Given the description of an element on the screen output the (x, y) to click on. 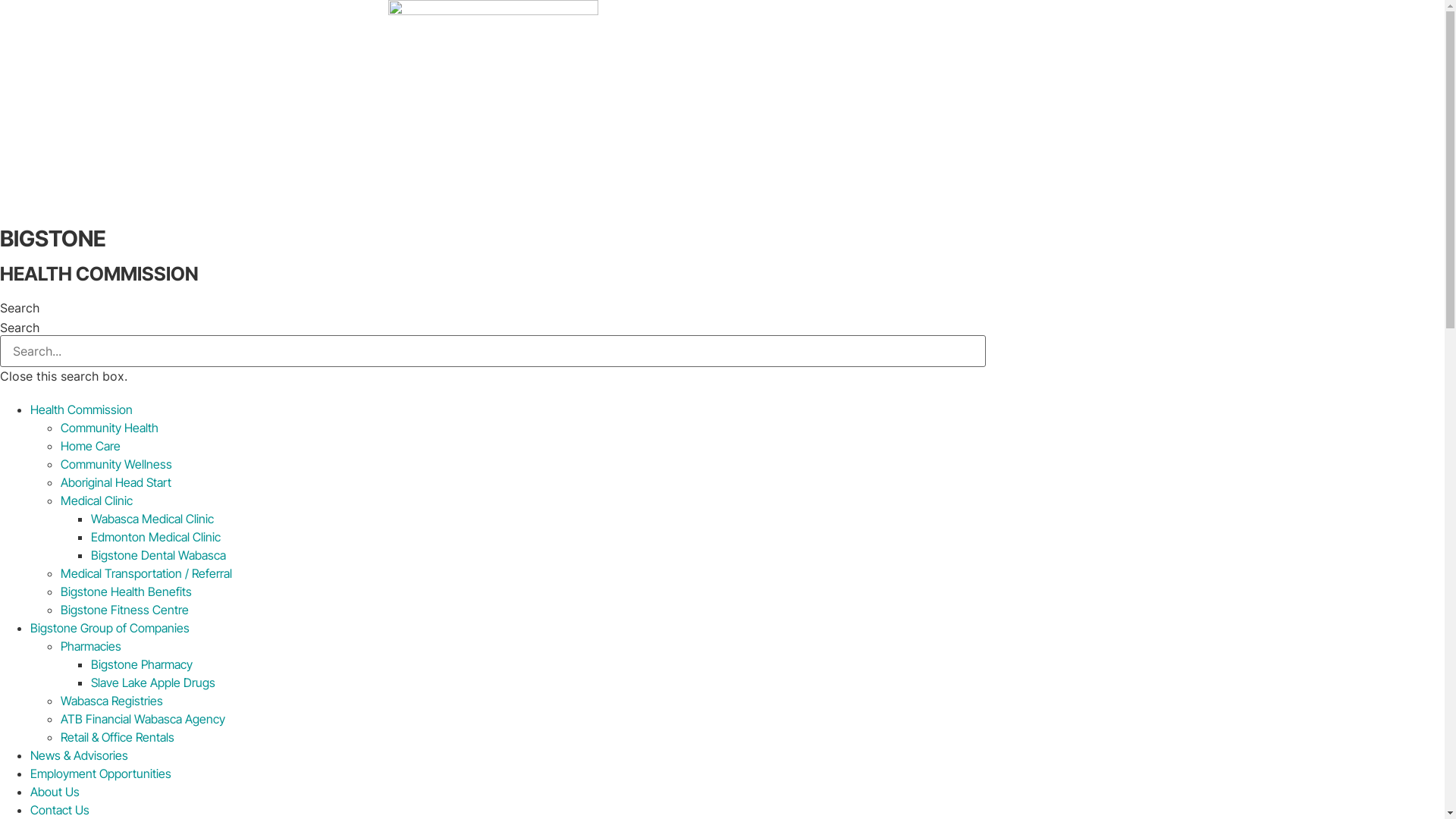
Contact Us Element type: text (59, 809)
Slave Lake Apple Drugs Element type: text (153, 682)
BIGSTONE Element type: text (53, 238)
Aboriginal Head Start Element type: text (115, 481)
Wabasca Medical Clinic Element type: text (152, 518)
Community Health Element type: text (109, 427)
Wabasca Registries Element type: text (111, 700)
Health Commission Element type: text (81, 409)
Medical Transportation / Referral Element type: text (146, 572)
Employment Opportunities Element type: text (100, 773)
Bigstone Group of Companies Element type: text (109, 627)
HEALTH COMMISSION Element type: text (99, 273)
Pharmacies Element type: text (90, 645)
ATB Financial Wabasca Agency Element type: text (142, 718)
Retail & Office Rentals Element type: text (117, 736)
Bigstone Pharmacy Element type: text (141, 663)
Bigstone Dental Wabasca Element type: text (158, 554)
About Us Element type: text (54, 791)
Edmonton Medical Clinic Element type: text (155, 536)
Medical Clinic Element type: text (96, 500)
News & Advisories Element type: text (79, 754)
Home Care Element type: text (90, 445)
Bigstone Health Benefits Element type: text (125, 591)
Community Wellness Element type: text (116, 463)
Bigstone Fitness Centre Element type: text (124, 609)
